Given the description of an element on the screen output the (x, y) to click on. 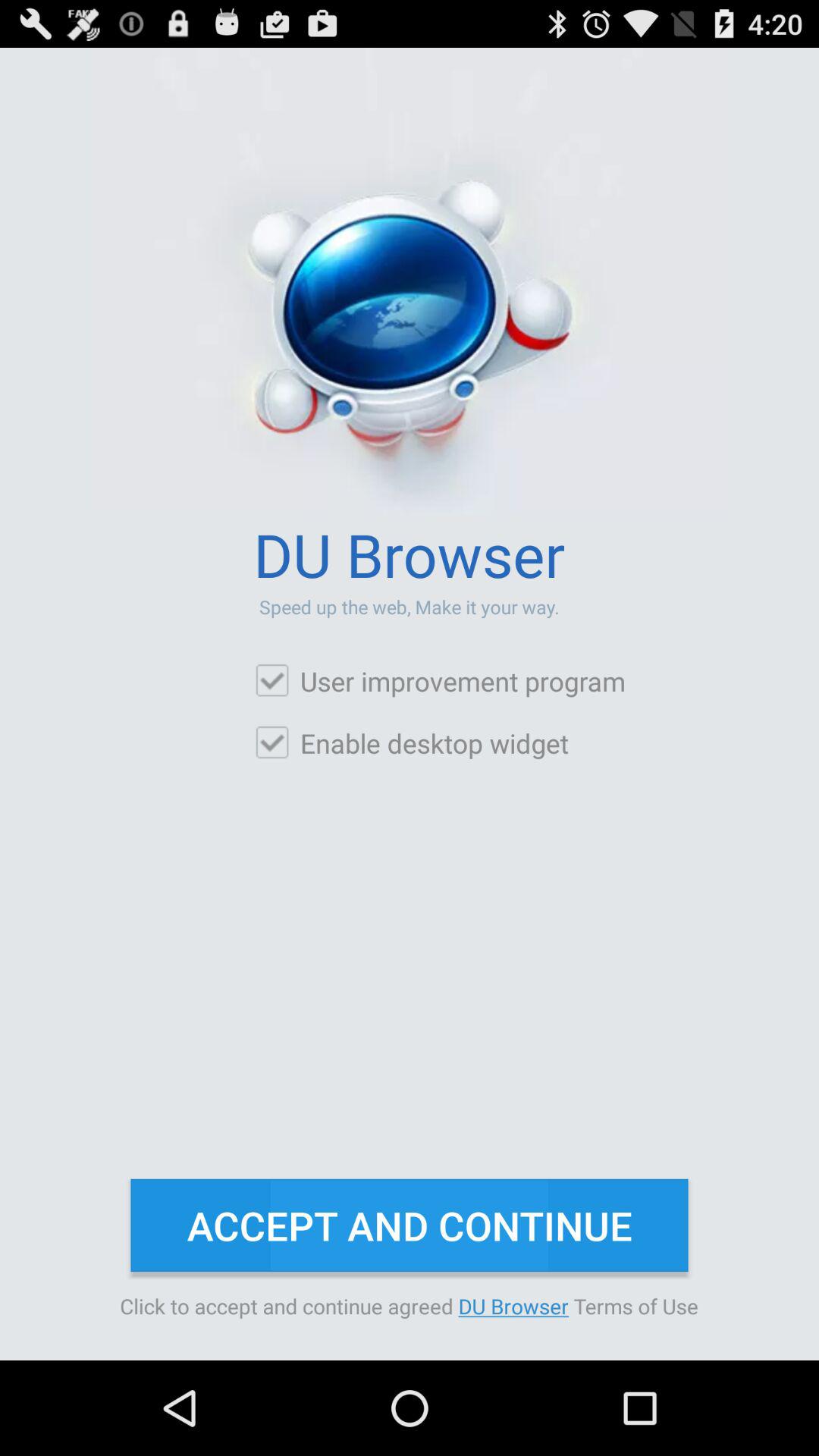
launch enable desktop widget checkbox (410, 742)
